Given the description of an element on the screen output the (x, y) to click on. 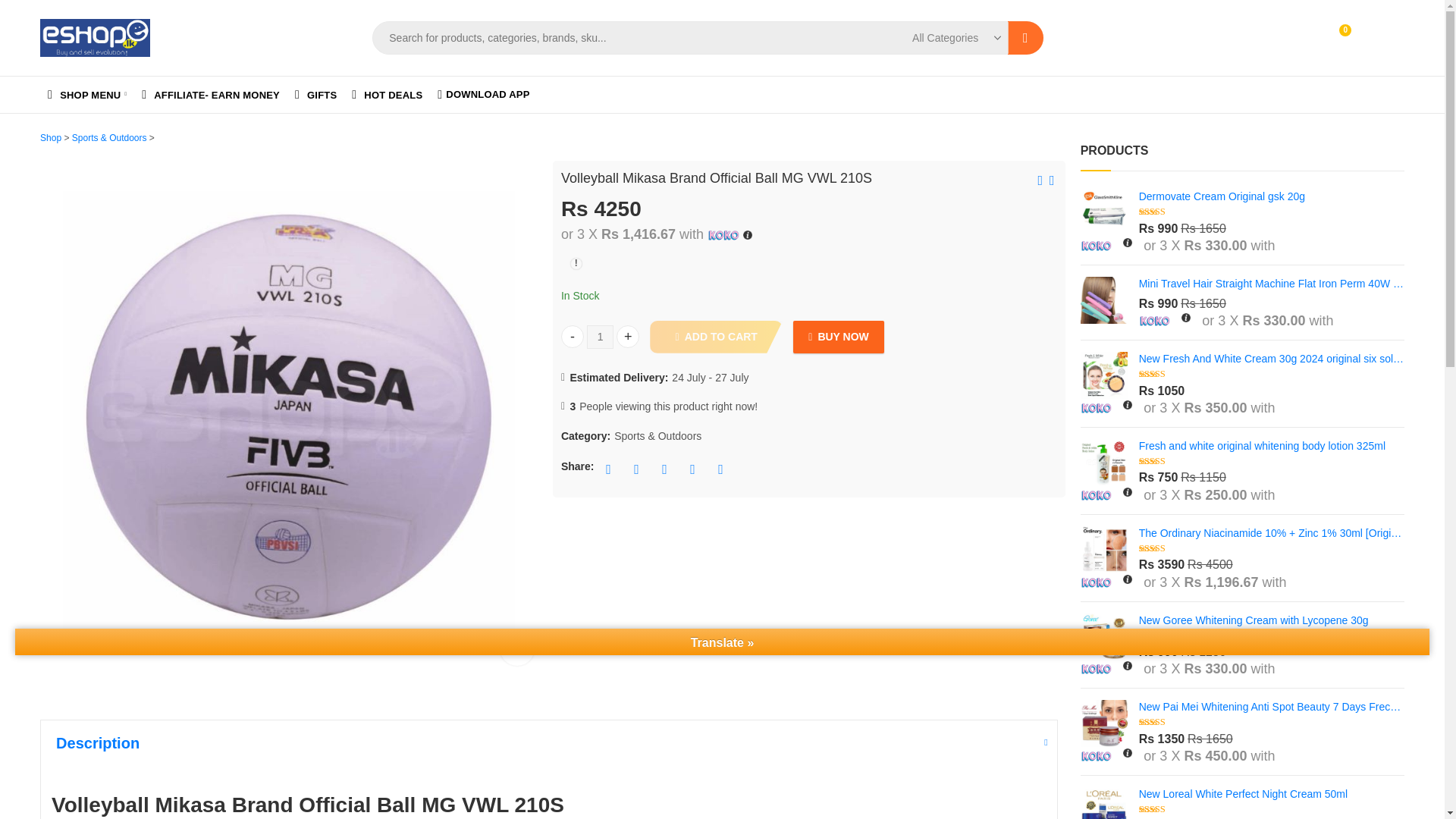
BUY NOW (838, 336)
ADD TO CART (716, 336)
GIFTS (314, 94)
1 (599, 336)
HOT DEALS (386, 94)
DOWNLOAD APP (483, 94)
Shop (50, 137)
AFFILIATE- EARN MONEY (1299, 38)
Volleyball Mikasa Brand Official Ball MG VWL 210S (209, 94)
SHOP MENU (1357, 37)
Qty (516, 647)
- (86, 94)
